Given the description of an element on the screen output the (x, y) to click on. 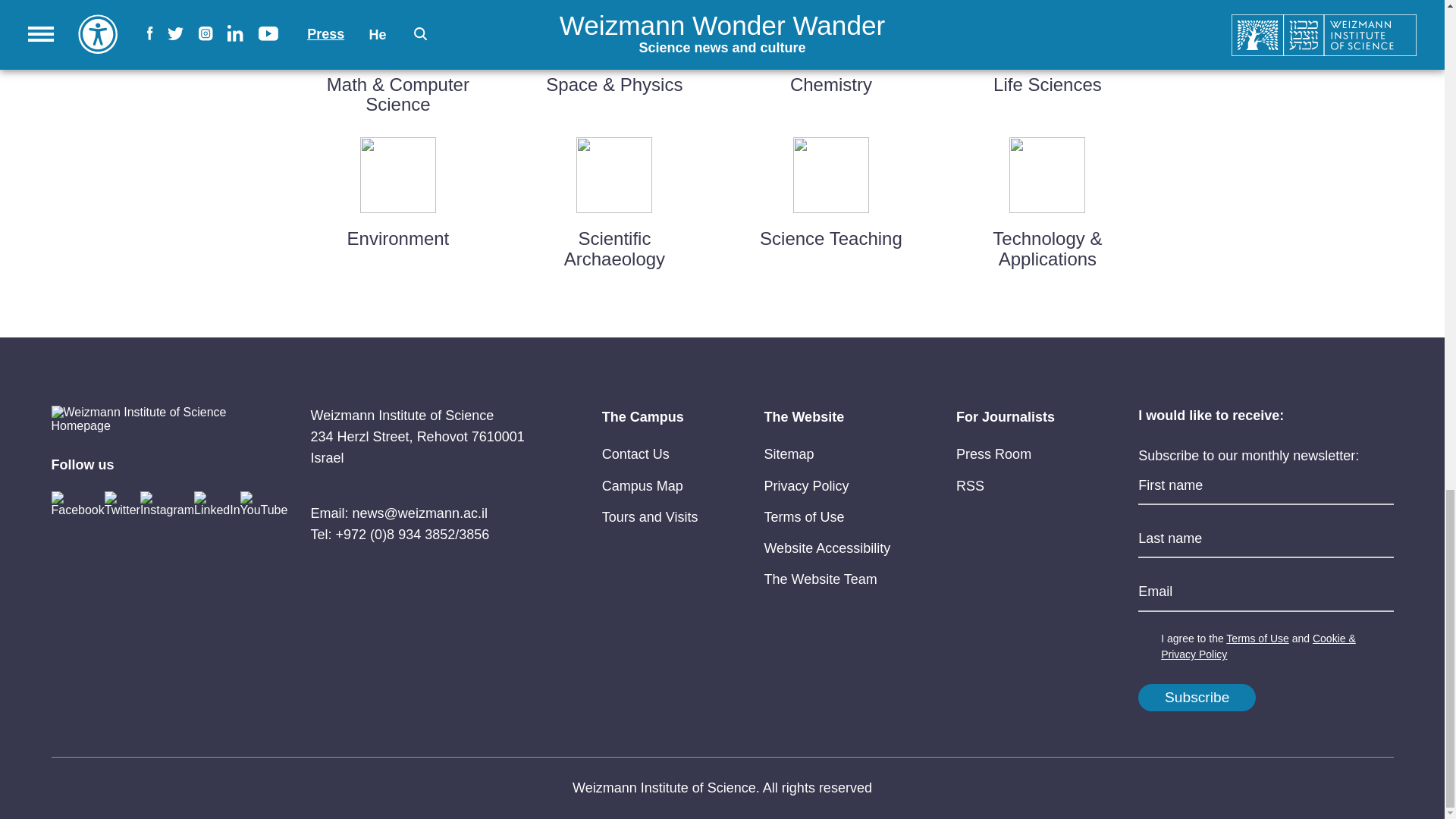
Subscribe (1196, 697)
opens in a new window (642, 485)
Weizmann Institute of Science Homepage (141, 419)
opens in a new window (635, 453)
opens in a new window (805, 485)
opens in a new window (803, 516)
1 (1147, 638)
